Given the description of an element on the screen output the (x, y) to click on. 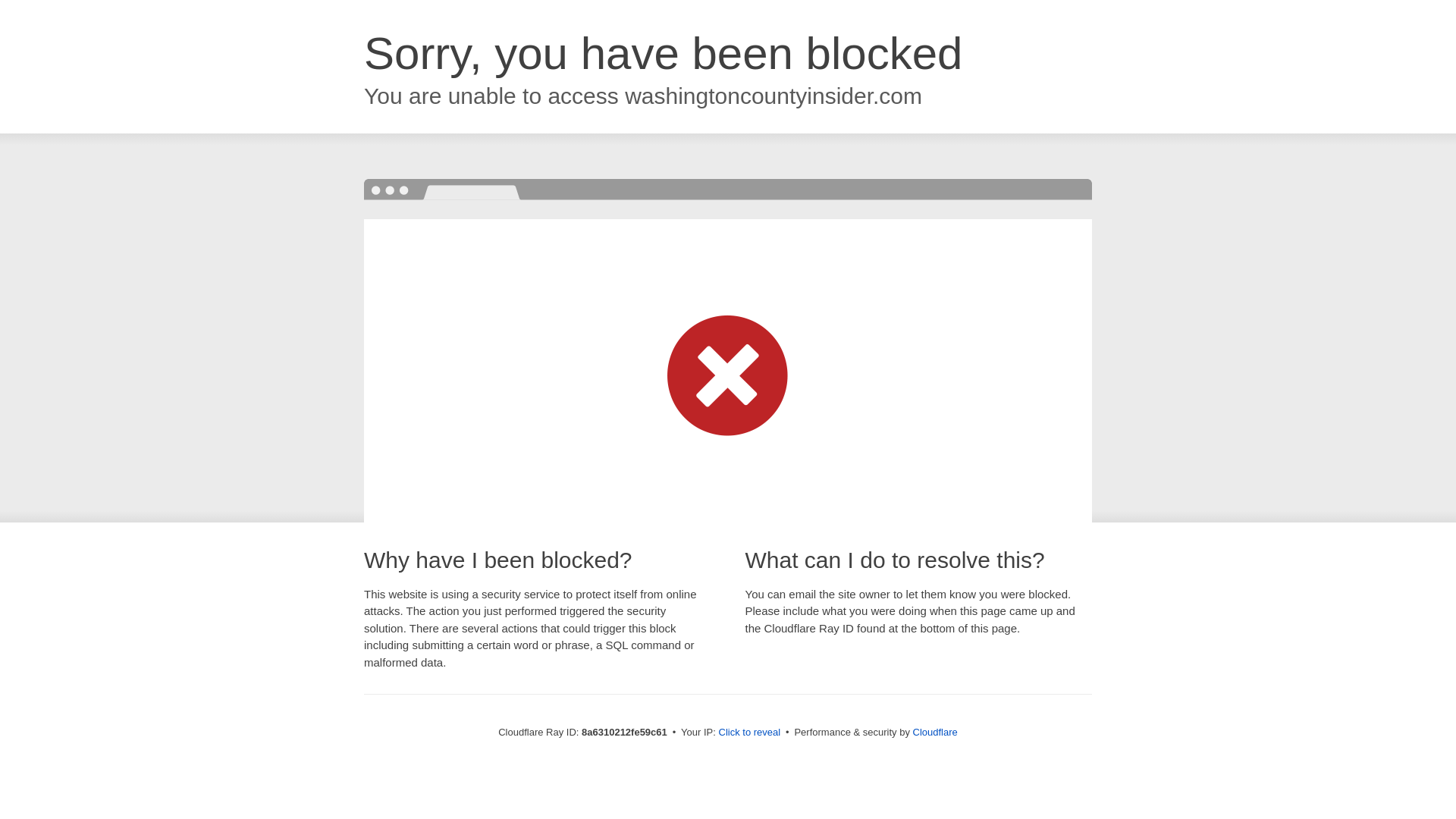
Click to reveal (749, 732)
Cloudflare (935, 731)
